Given the description of an element on the screen output the (x, y) to click on. 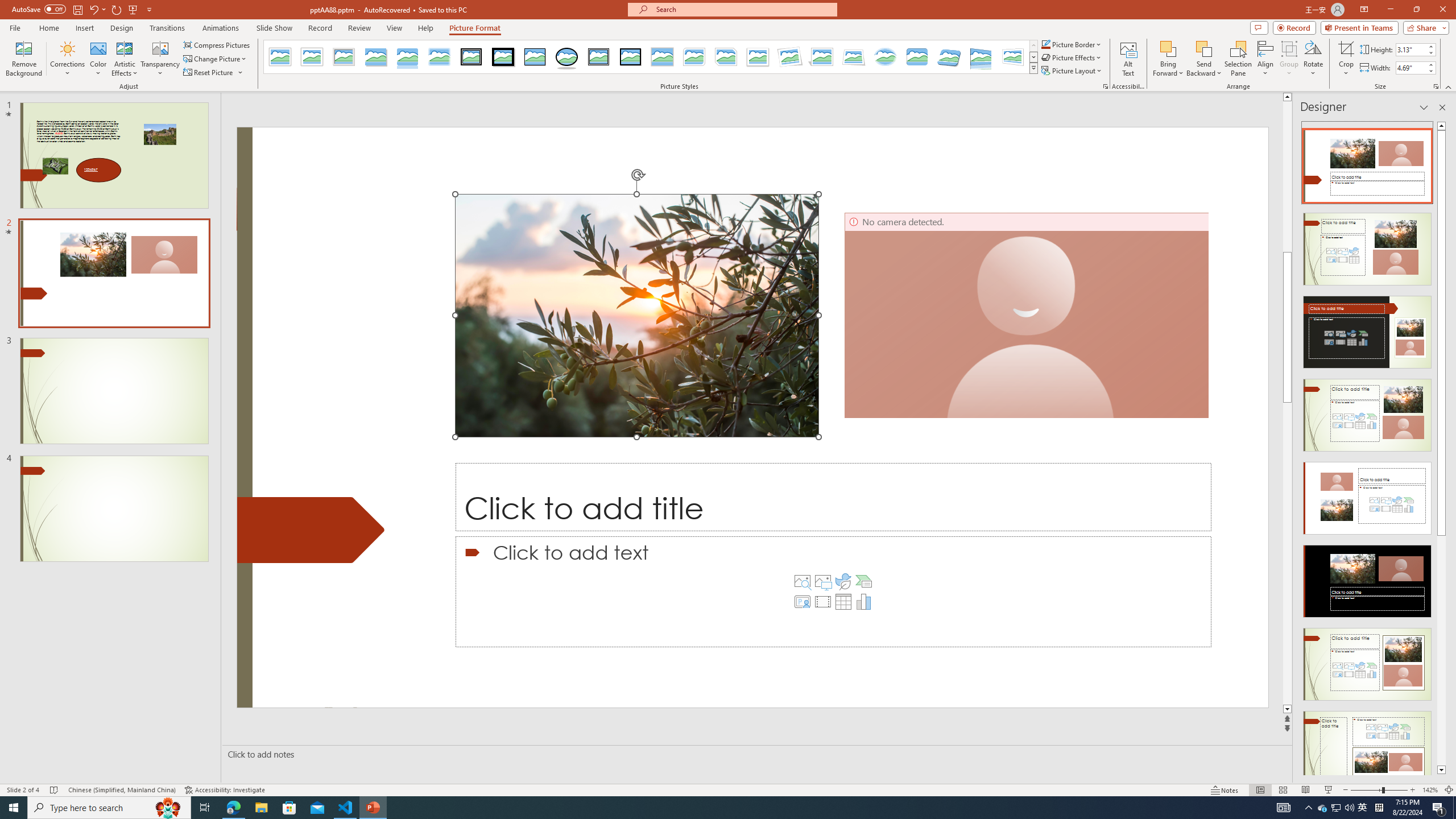
Insert Cameo (801, 601)
Beveled Oval, Black (566, 56)
Send Backward (1204, 58)
Simple Frame, Black (535, 56)
Beveled Matte, White (312, 56)
Reset Picture (214, 72)
Camera 7, No camera detected. (1026, 315)
